Given the description of an element on the screen output the (x, y) to click on. 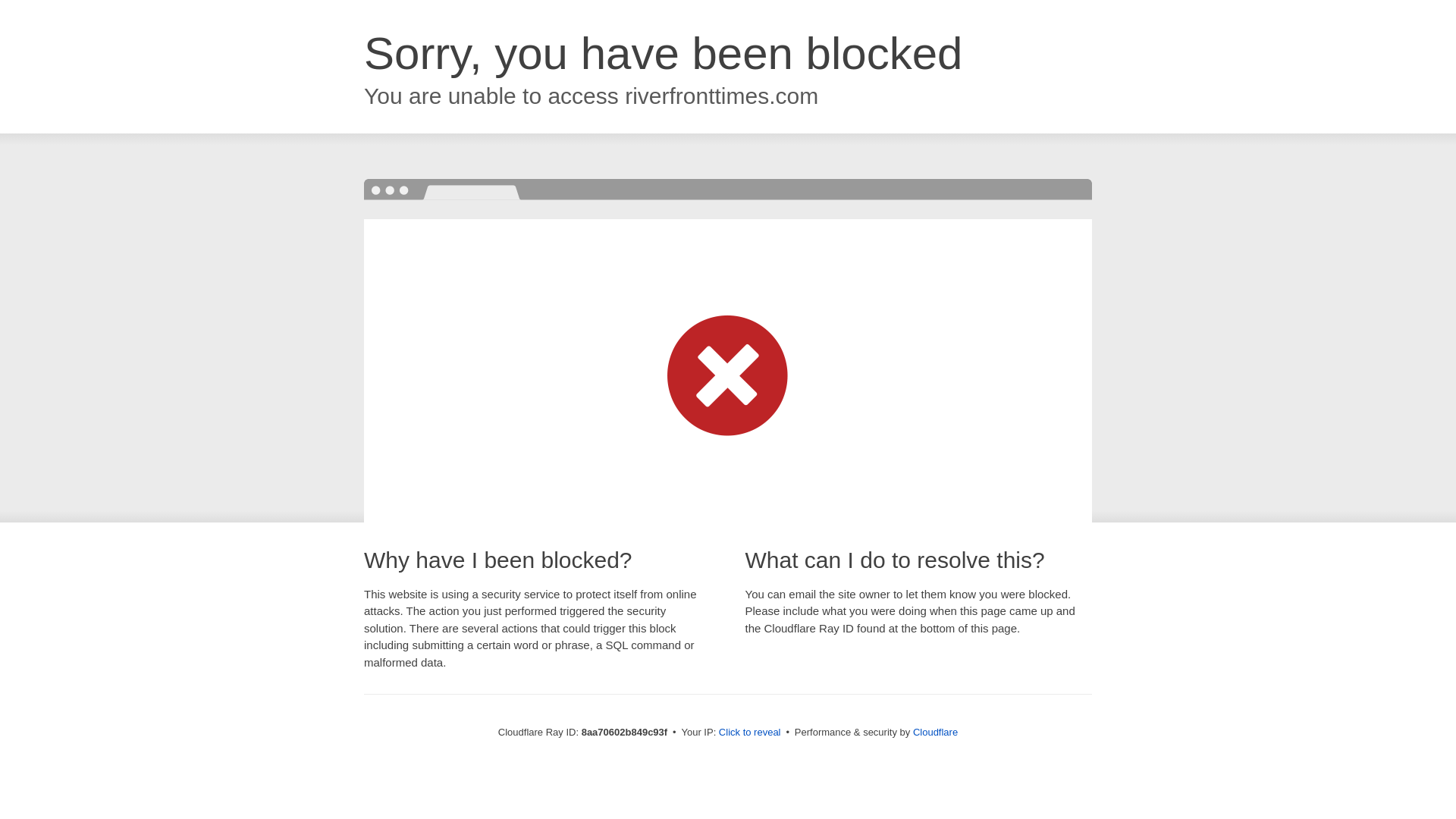
Cloudflare (935, 731)
Click to reveal (749, 732)
